Given the description of an element on the screen output the (x, y) to click on. 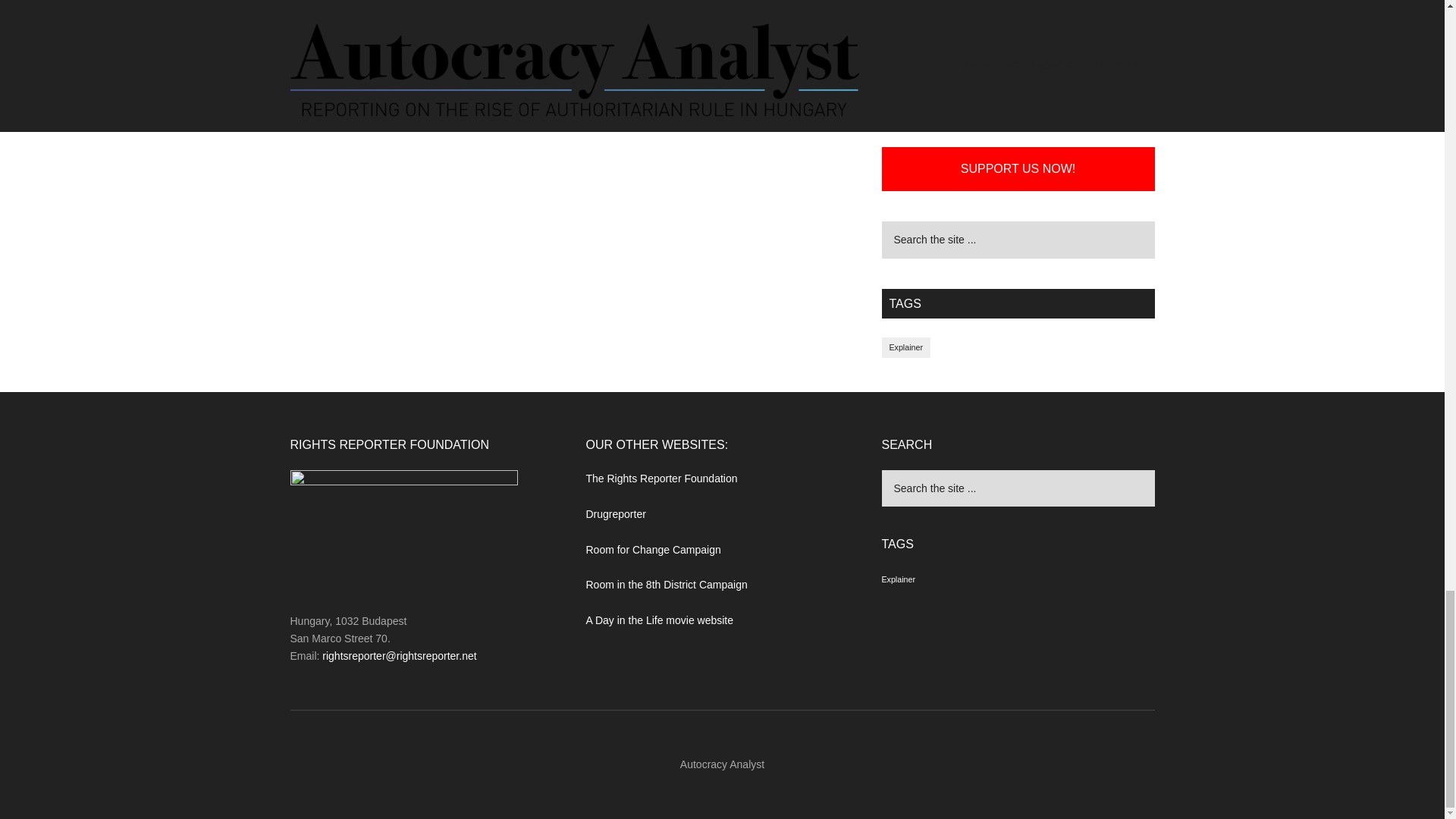
SUPPORT US NOW! (1017, 168)
Subscribe (1017, 5)
The Rights Reporter Foundation (660, 478)
Subscribe (1017, 5)
Autocracy Analyst -  (721, 764)
